Given the description of an element on the screen output the (x, y) to click on. 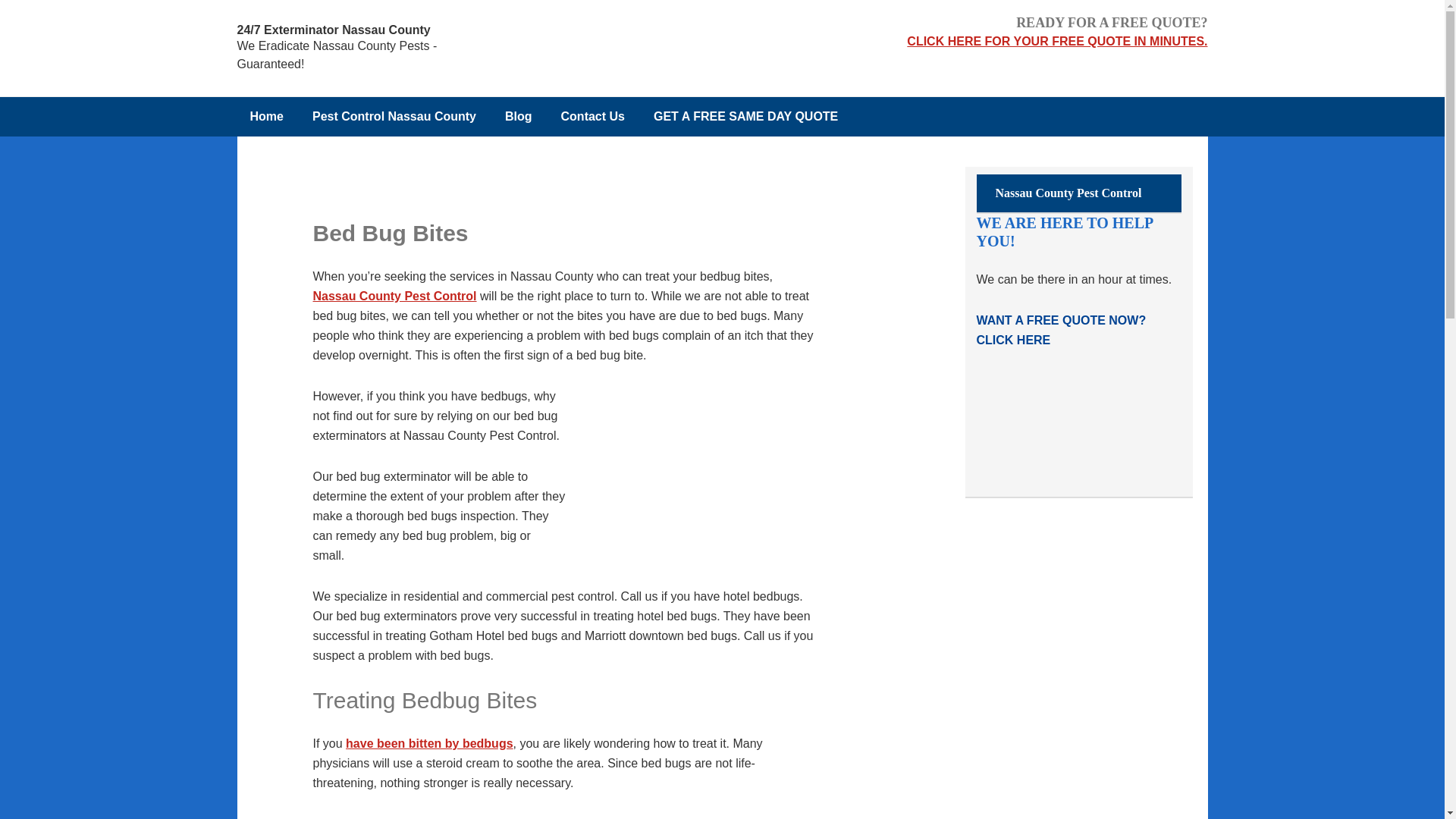
Contact Us (592, 116)
Nassau County Pest Control (394, 295)
CLICK HERE FOR YOUR FREE QUOTE IN MINUTES. (1057, 41)
Blog (518, 116)
GET A FREE SAME DAY QUOTE (745, 116)
Home (265, 116)
have been bitten by bedbugs (429, 743)
Pest Control Nassau County (394, 116)
